Given the description of an element on the screen output the (x, y) to click on. 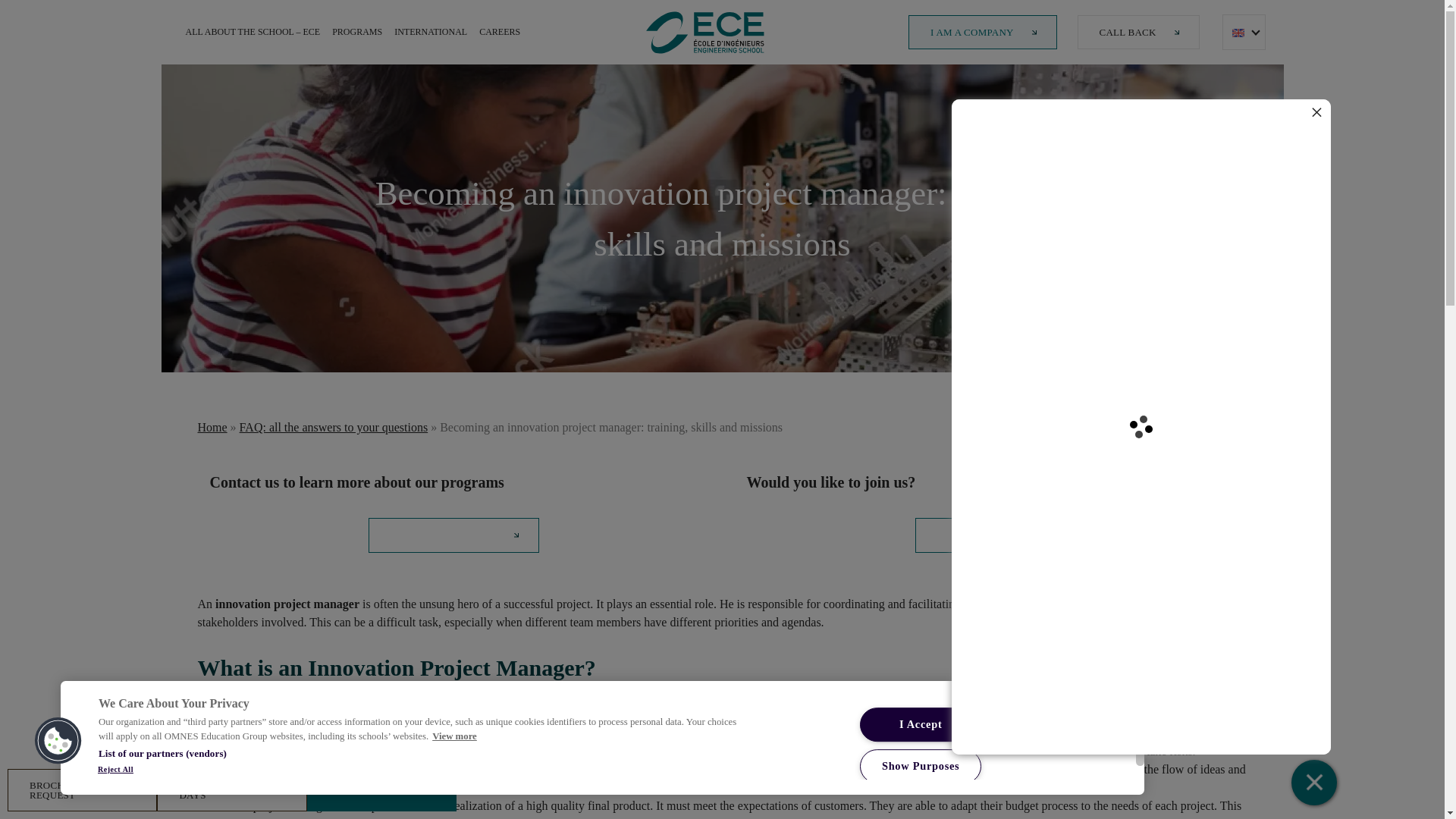
Cookies Button (57, 740)
PROGRAMS (357, 32)
